Given the description of an element on the screen output the (x, y) to click on. 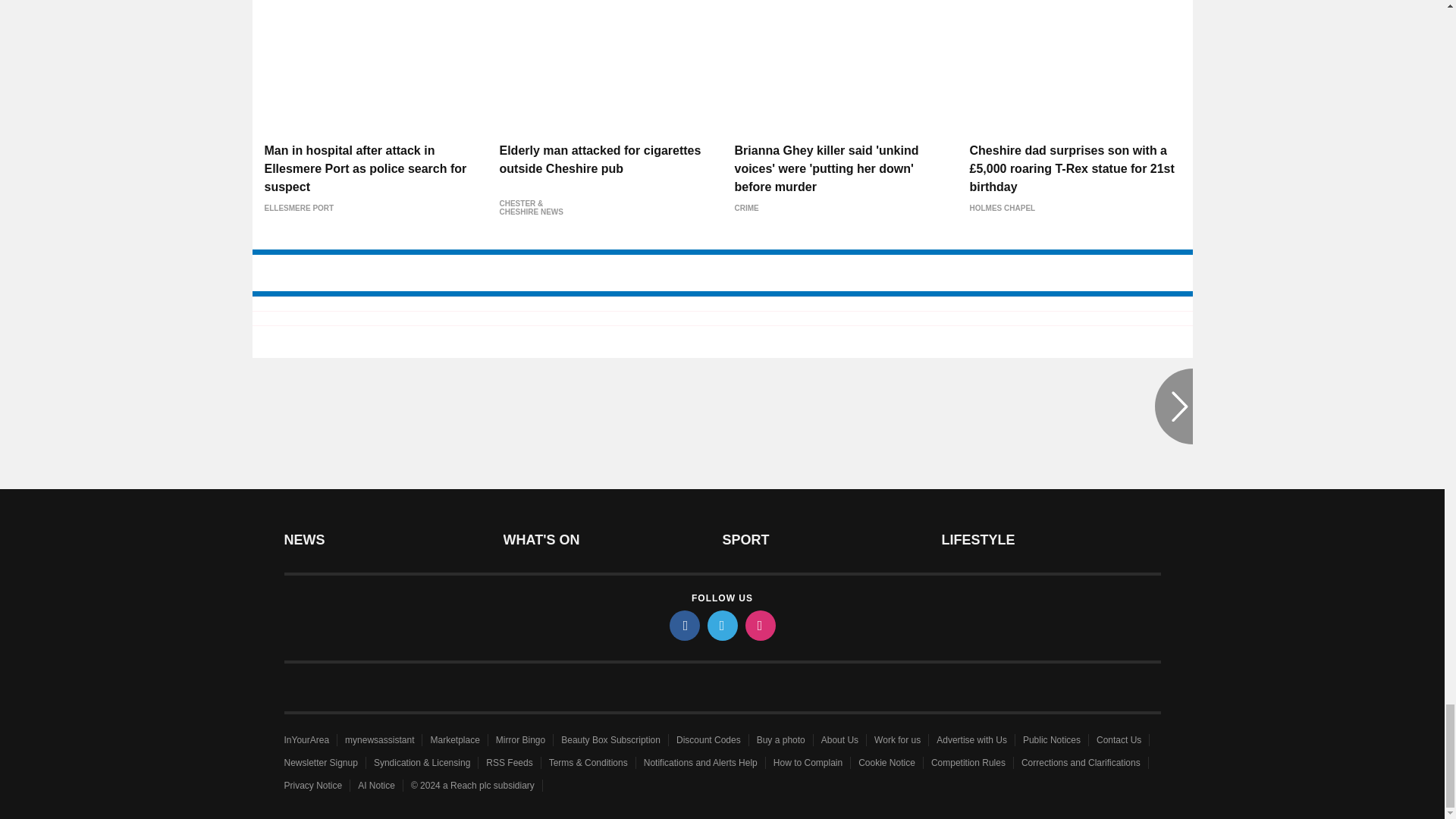
twitter (721, 625)
instagram (759, 625)
facebook (683, 625)
